Given the description of an element on the screen output the (x, y) to click on. 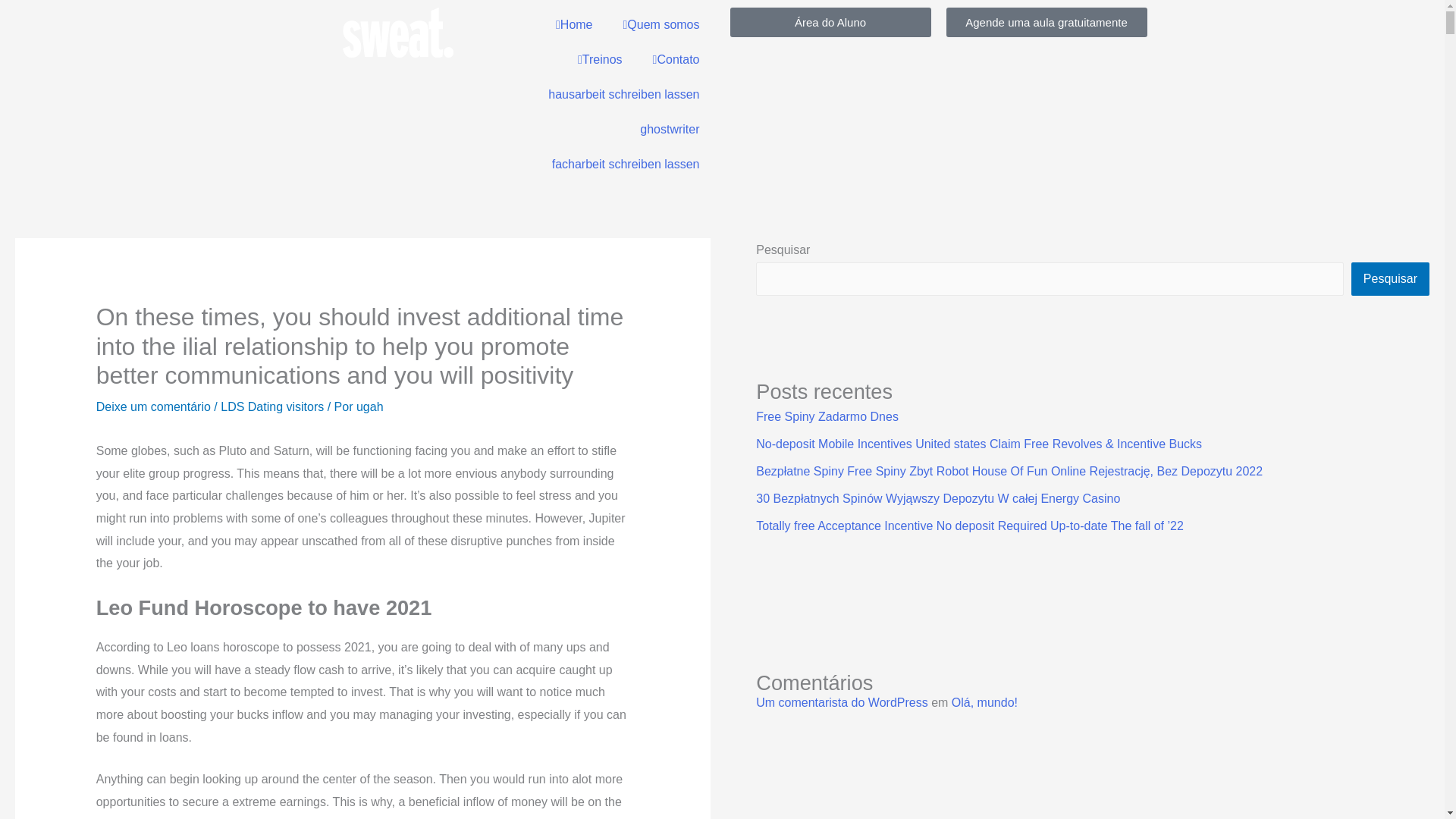
ugah (370, 406)
Contato (675, 59)
Treinos (599, 59)
Home (574, 24)
LDS Dating visitors (272, 406)
facharbeit schreiben lassen (625, 164)
Agende uma aula gratuitamente (1046, 21)
hausarbeit schreiben lassen (623, 94)
Ver todos os posts de ugah (370, 406)
ghostwriter (669, 129)
